Given the description of an element on the screen output the (x, y) to click on. 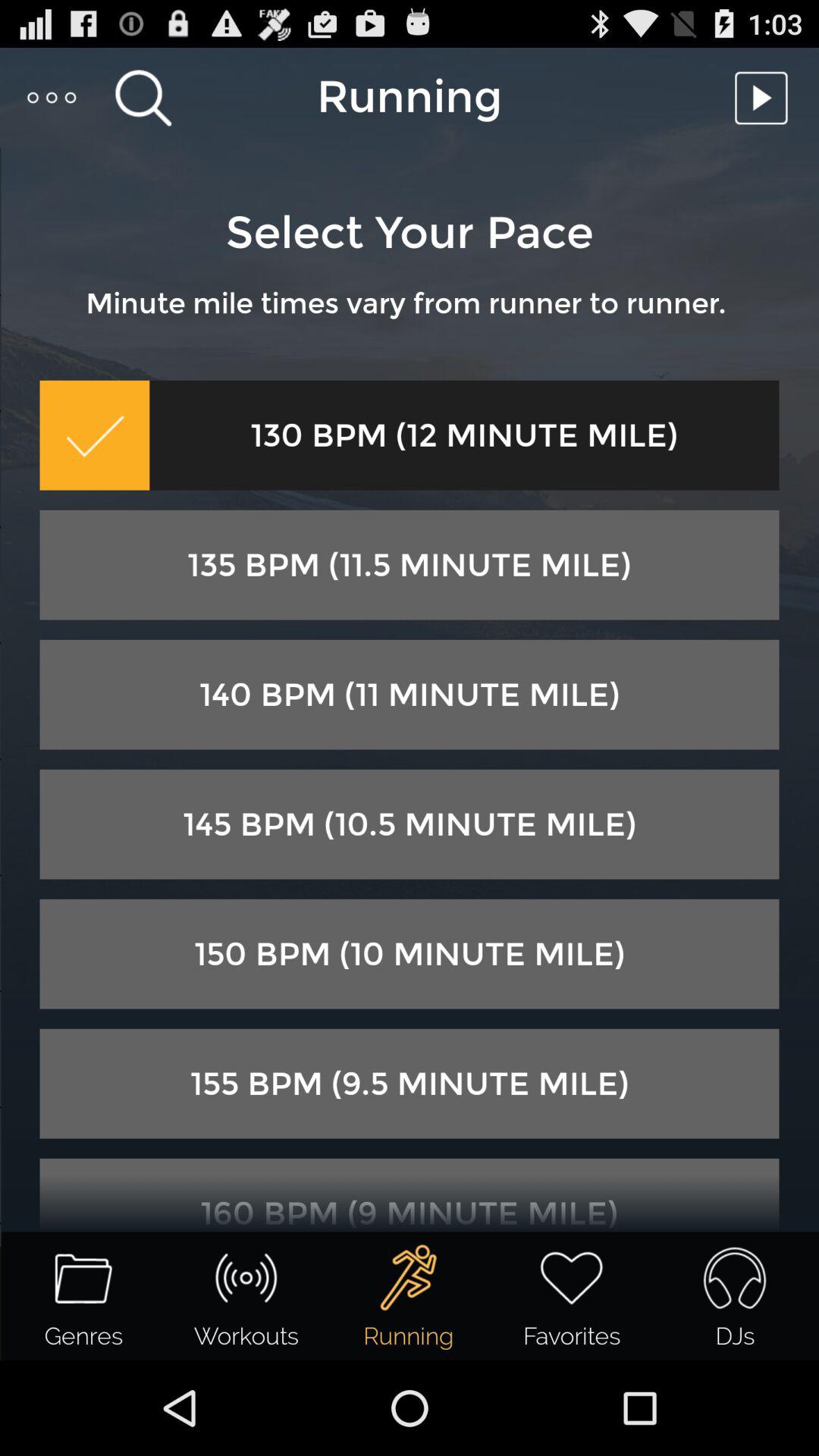
open menu (52, 97)
